Given the description of an element on the screen output the (x, y) to click on. 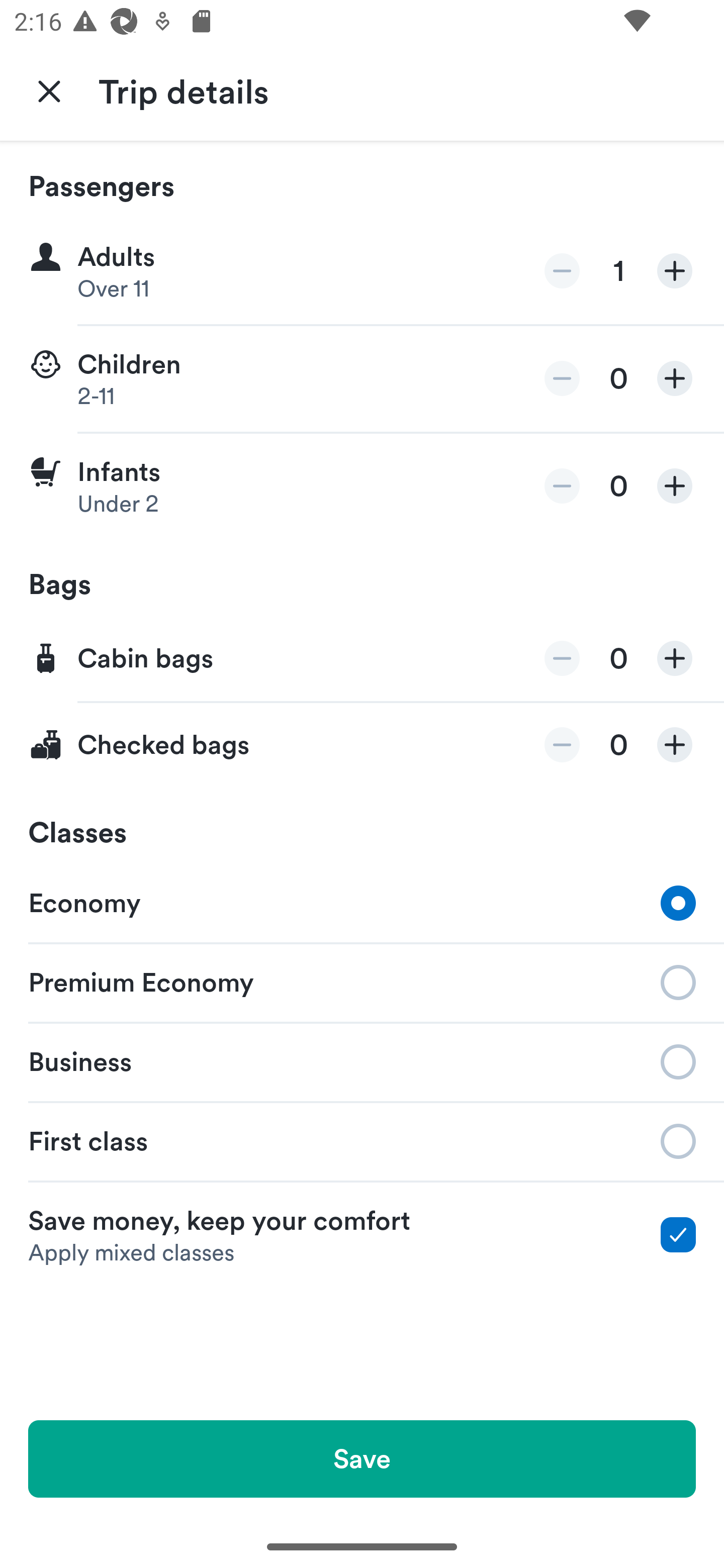
Navigate up (49, 90)
Remove 1 Add Adults Over 11 (362, 271)
Remove (561, 270)
Add (674, 270)
Remove 0 Add Children 2-11 (362, 379)
Remove (561, 377)
Add (674, 377)
Remove 0 Add Infants Under 2 (362, 485)
Remove (561, 485)
Add (674, 485)
Remove 0 Add Cabin bags (362, 659)
Remove (561, 658)
Add (674, 658)
Remove 0 Add Checked bags (362, 744)
Remove (561, 744)
Add (674, 744)
Premium Economy (362, 980)
Business (362, 1060)
First class (362, 1141)
Save (361, 1458)
